Given the description of an element on the screen output the (x, y) to click on. 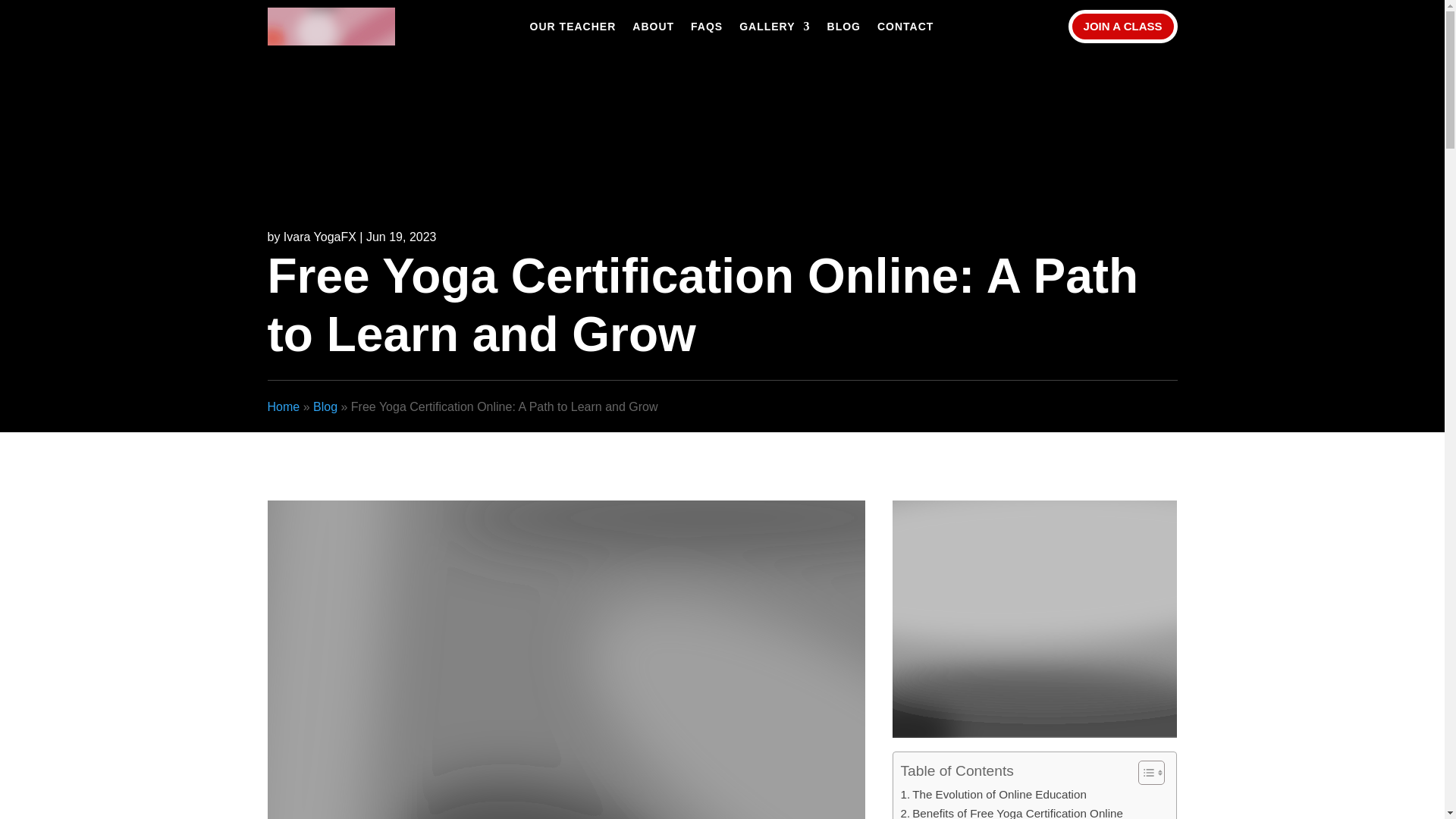
ABOUT (652, 29)
Blog (325, 406)
Home (282, 406)
The Evolution of Online Education (993, 794)
JOIN A CLASS (1122, 26)
yogafx-logo-250 (330, 26)
FAQS (706, 29)
Ivara YogaFX (319, 236)
Benefits of Free Yoga Certification Online (1011, 811)
CONTACT (905, 29)
